Given the description of an element on the screen output the (x, y) to click on. 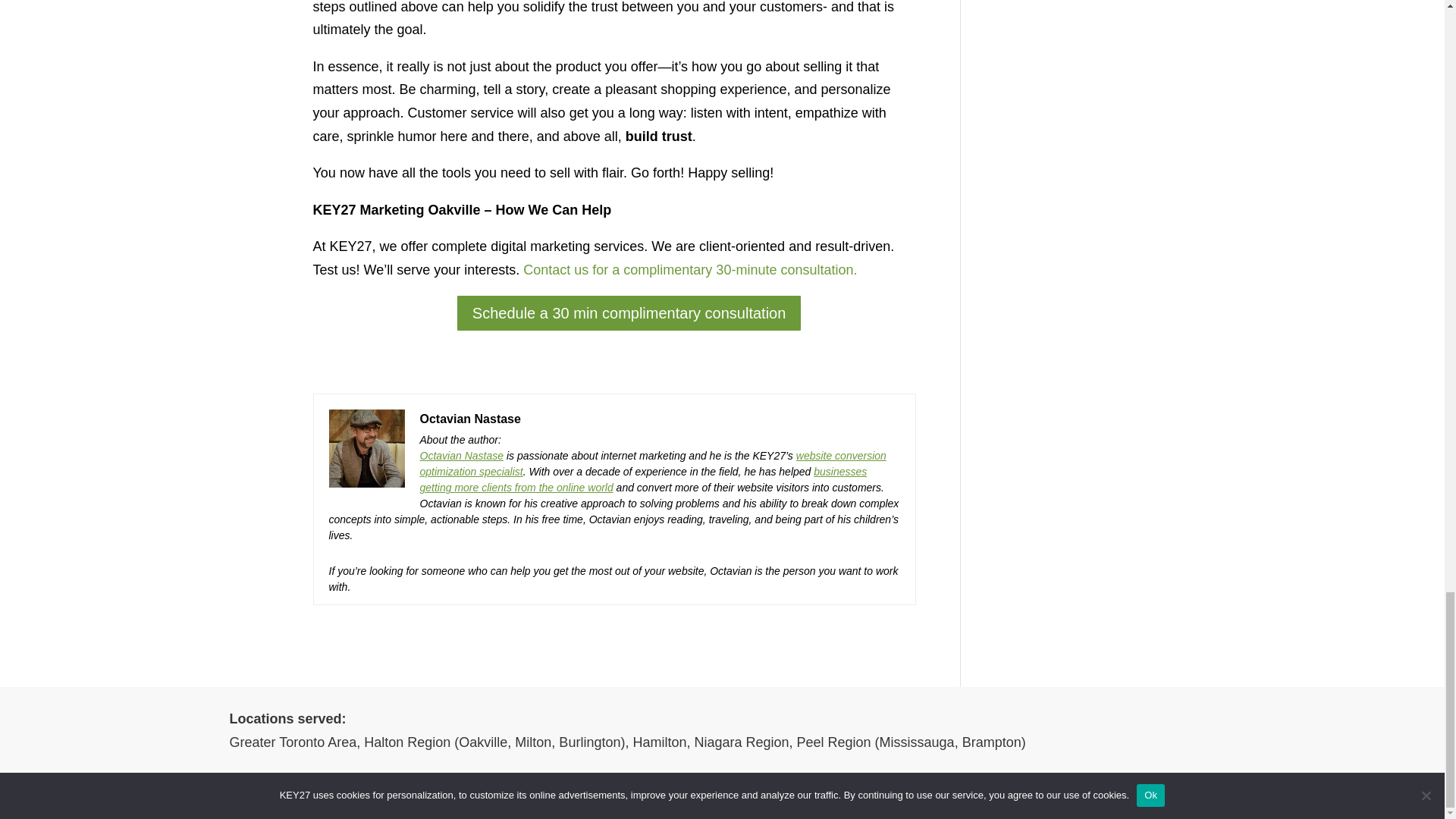
Follow on Facebook (1111, 800)
Follow on LinkedIn (1141, 800)
Follow on Instagram (1172, 800)
Follow on X (1202, 800)
